Given the description of an element on the screen output the (x, y) to click on. 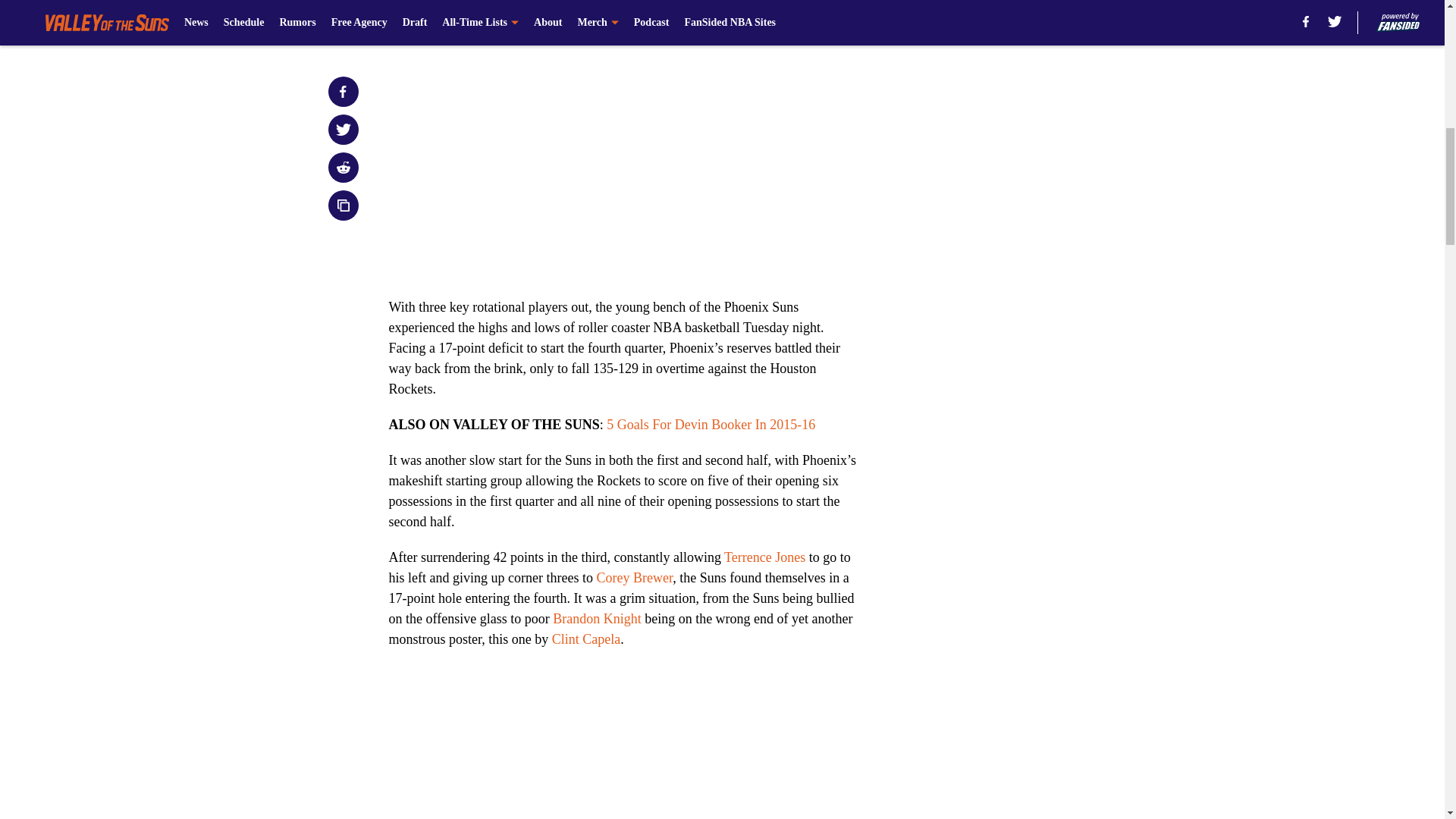
Brandon Knight (597, 618)
Terrence Jones (764, 557)
5 Goals For Devin Booker In 2015-16 (711, 424)
Clint Capela (585, 639)
Corey Brewer (633, 577)
